Given the description of an element on the screen output the (x, y) to click on. 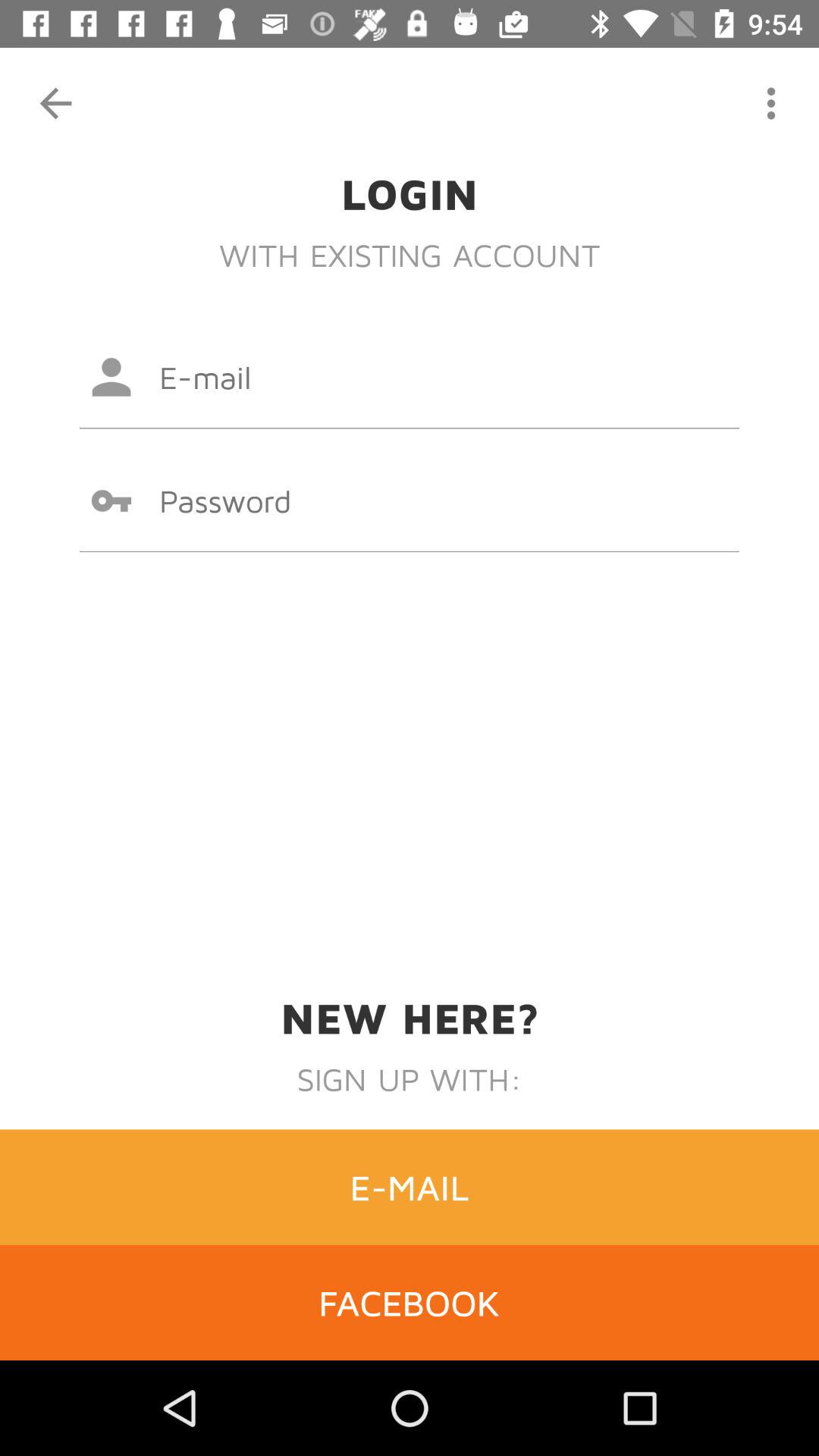
flip to facebook item (409, 1302)
